Given the description of an element on the screen output the (x, y) to click on. 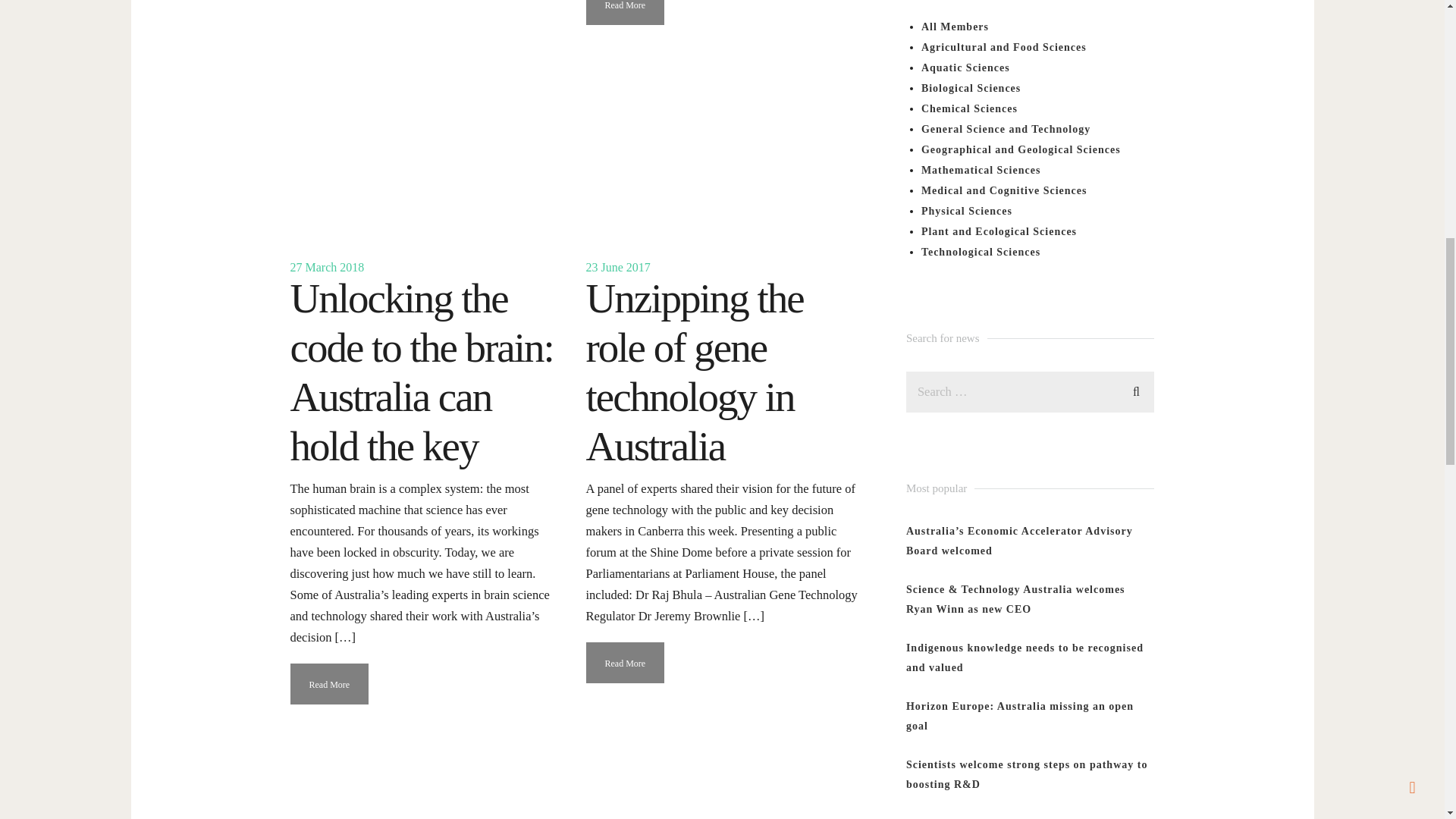
Search (1136, 389)
Search (1136, 389)
